Given the description of an element on the screen output the (x, y) to click on. 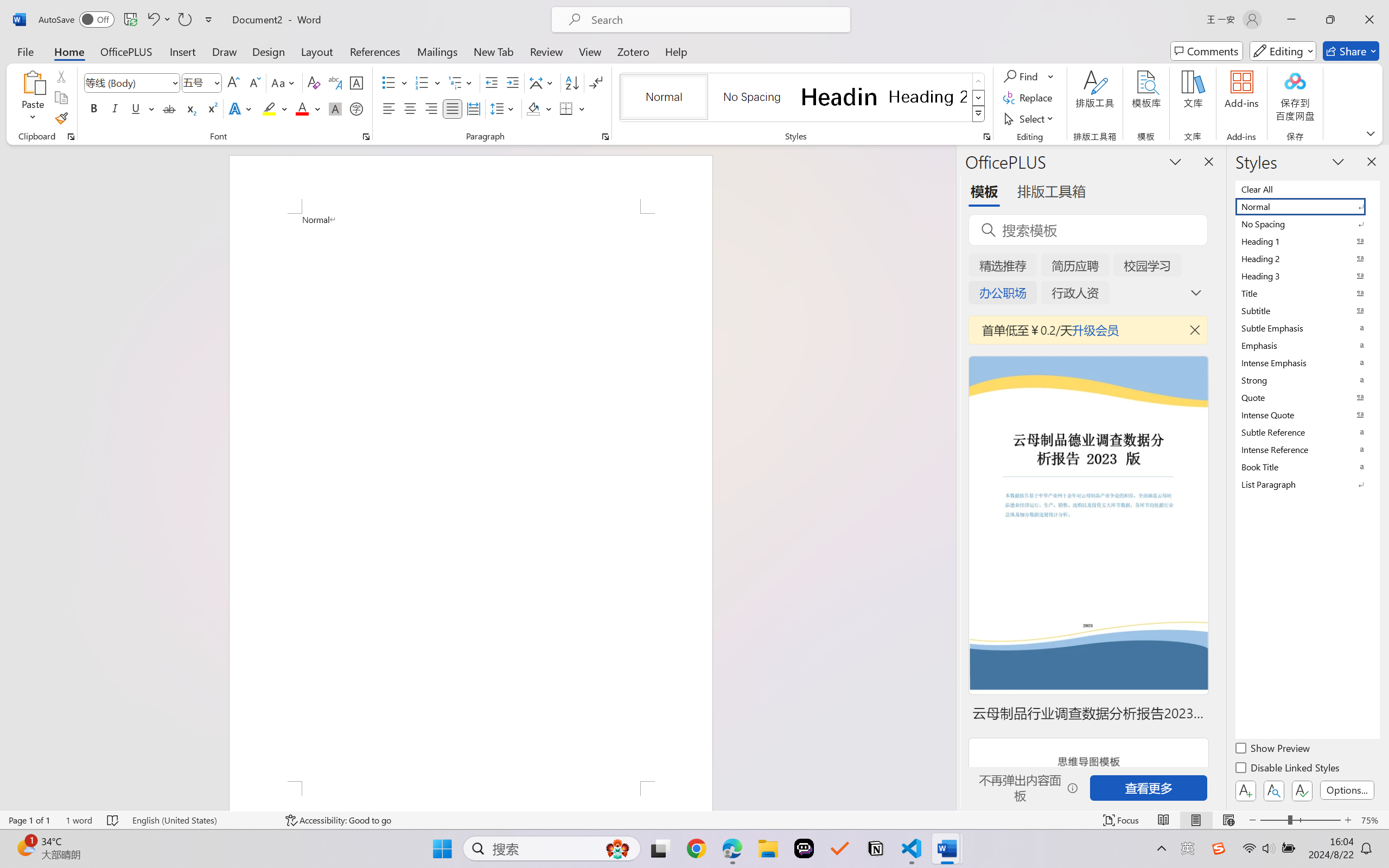
Text Effects and Typography (241, 108)
Justify (452, 108)
Change Case (284, 82)
Replace... (1029, 97)
No Spacing (1306, 223)
Office Clipboard... (70, 136)
Word Count 1 word (78, 819)
Asian Layout (542, 82)
Styles... (986, 136)
Clear All (1306, 188)
